Given the description of an element on the screen output the (x, y) to click on. 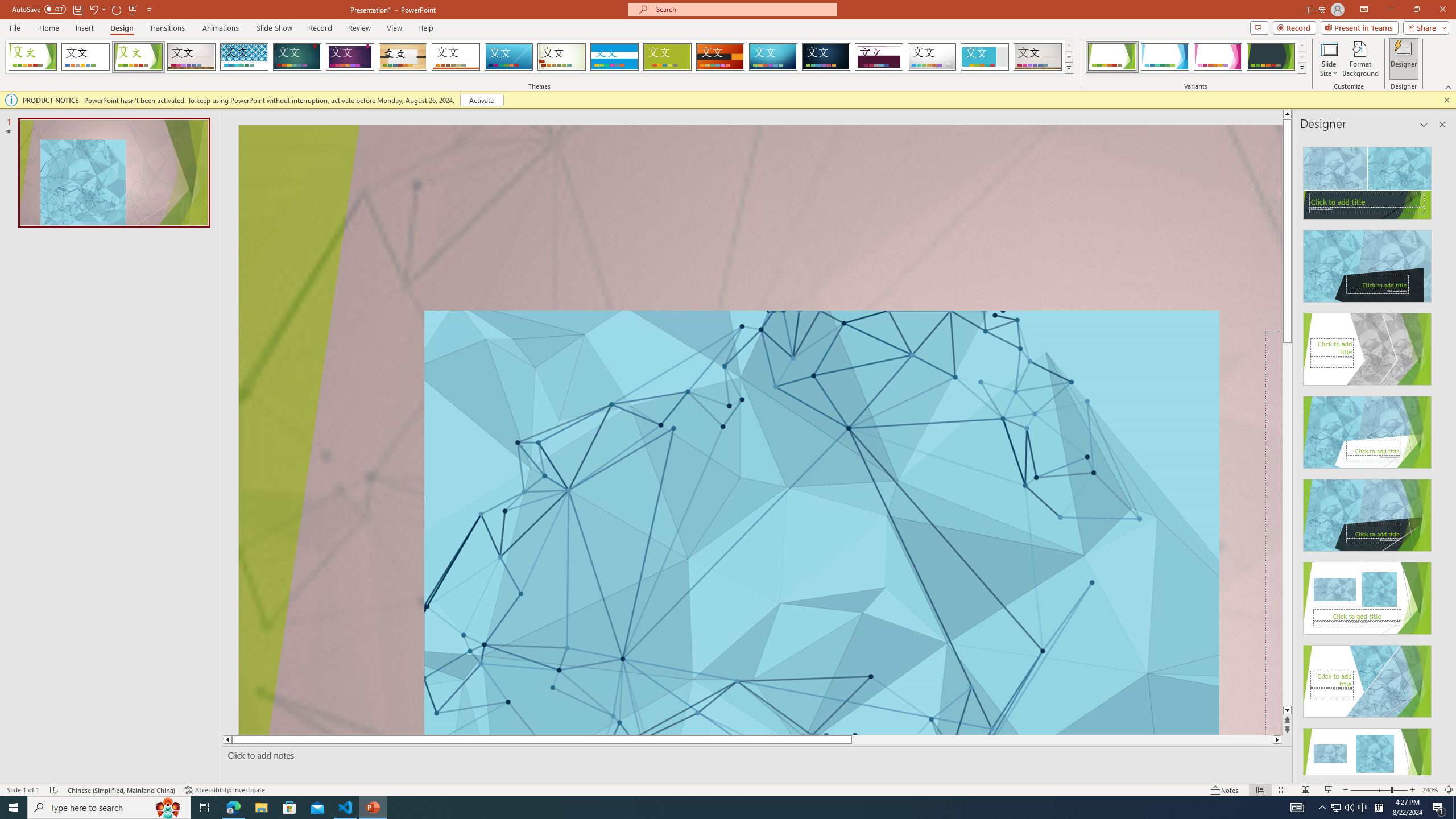
Banded (614, 56)
Activate (481, 100)
Office Theme (85, 56)
